Given the description of an element on the screen output the (x, y) to click on. 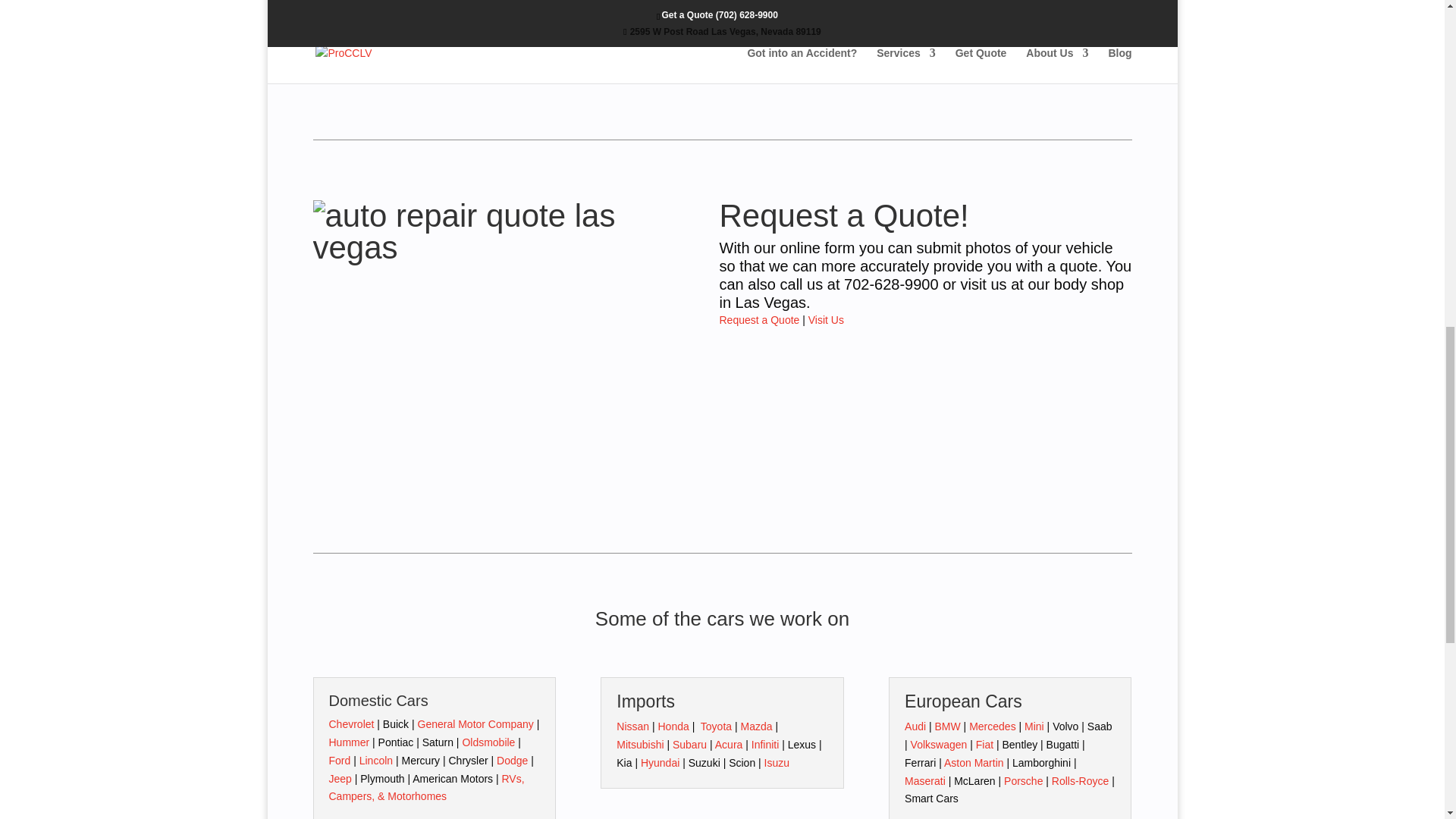
Lincoln Body Shop (376, 760)
Oldsmobile Body Shop (488, 742)
Honda (673, 726)
Subaru (689, 744)
Ford (339, 760)
Toyota Body Shop (716, 726)
Mazda (755, 726)
Visit Us (826, 319)
GMC Body Shop (474, 724)
Chevrolet (351, 724)
Dodge (511, 760)
Jeep Body Shop (340, 778)
Dodge Body Shop (511, 760)
General Motor Company (474, 724)
Mitsubishi Body Shop (639, 744)
